Given the description of an element on the screen output the (x, y) to click on. 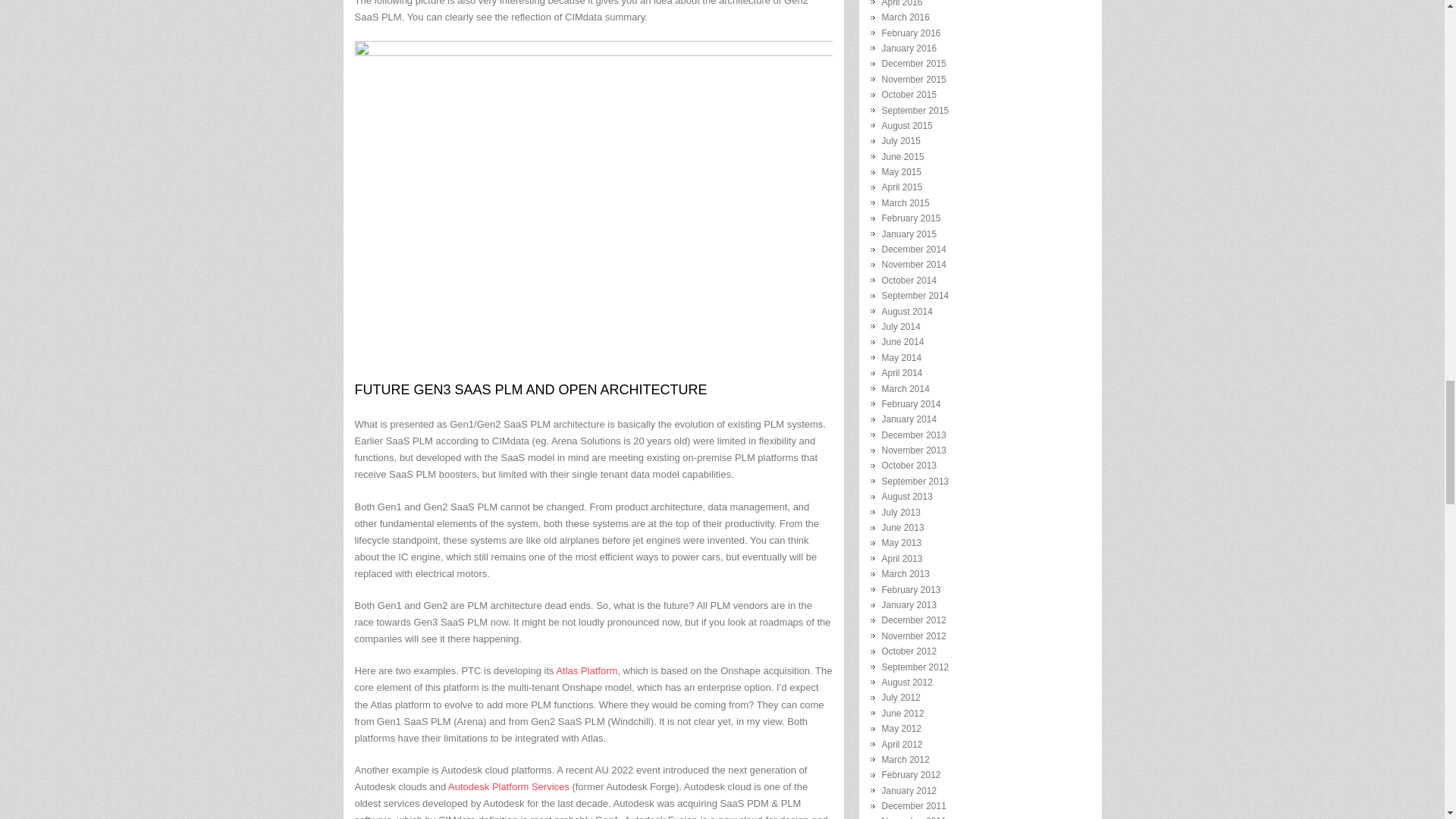
Atlas Platform (586, 670)
Autodesk Platform Services (508, 786)
